Given the description of an element on the screen output the (x, y) to click on. 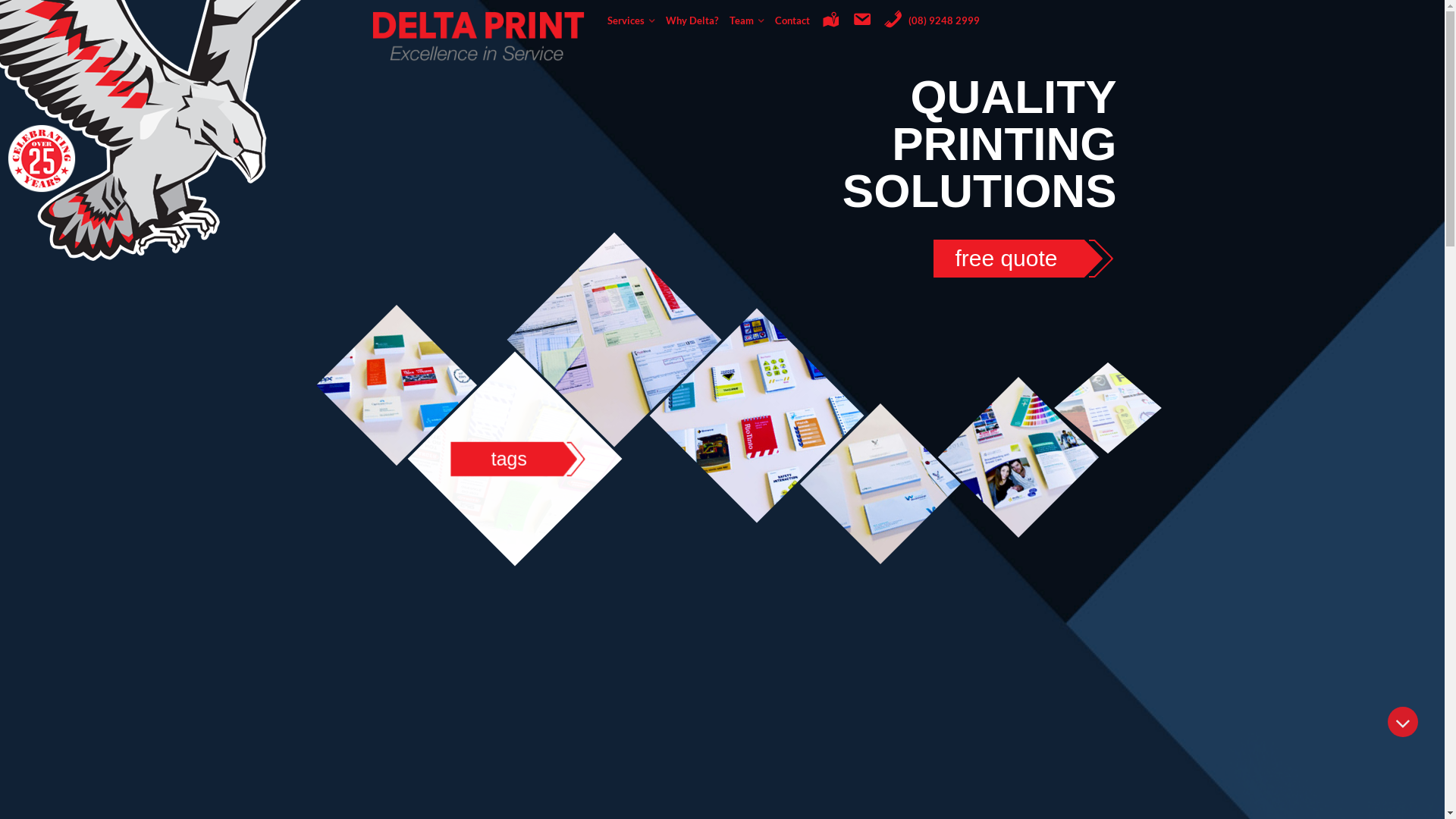
Map Element type: text (830, 20)
Services Element type: text (630, 20)
Team Element type: text (746, 20)
free quote Element type: text (1023, 258)
Email Element type: text (862, 20)
Delta Print - Excellence in Service Element type: hover (478, 32)
(08) 9248 2999 Element type: text (931, 20)
Why Delta? Element type: text (691, 20)
Contact Element type: text (792, 20)
custom Element type: text (1110, 408)
